Given the description of an element on the screen output the (x, y) to click on. 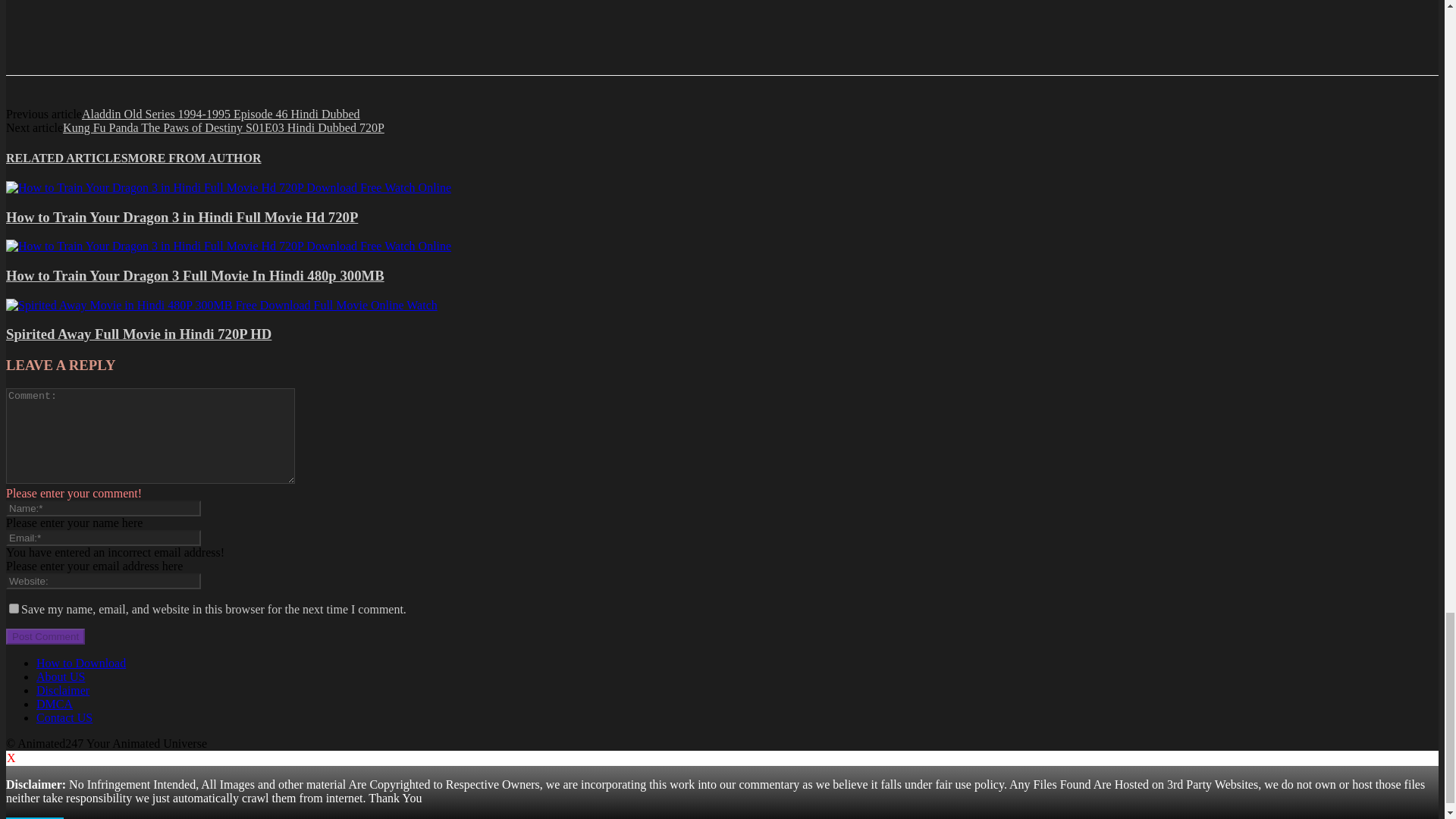
Post Comment (44, 636)
How to Train Your Dragon 3 Full Movie In Hindi 480p 300MB (228, 245)
How to Train Your Dragon 3 in Hindi Full Movie Hd 720P (228, 187)
How to Train Your Dragon 3 in Hindi Full Movie Hd 720P (181, 216)
How to Train Your Dragon 3 in Hindi Full Movie Hd 720P (228, 187)
How to Train Your Dragon 3 Full Movie In Hindi 480p 300MB (228, 246)
yes (13, 608)
